Given the description of an element on the screen output the (x, y) to click on. 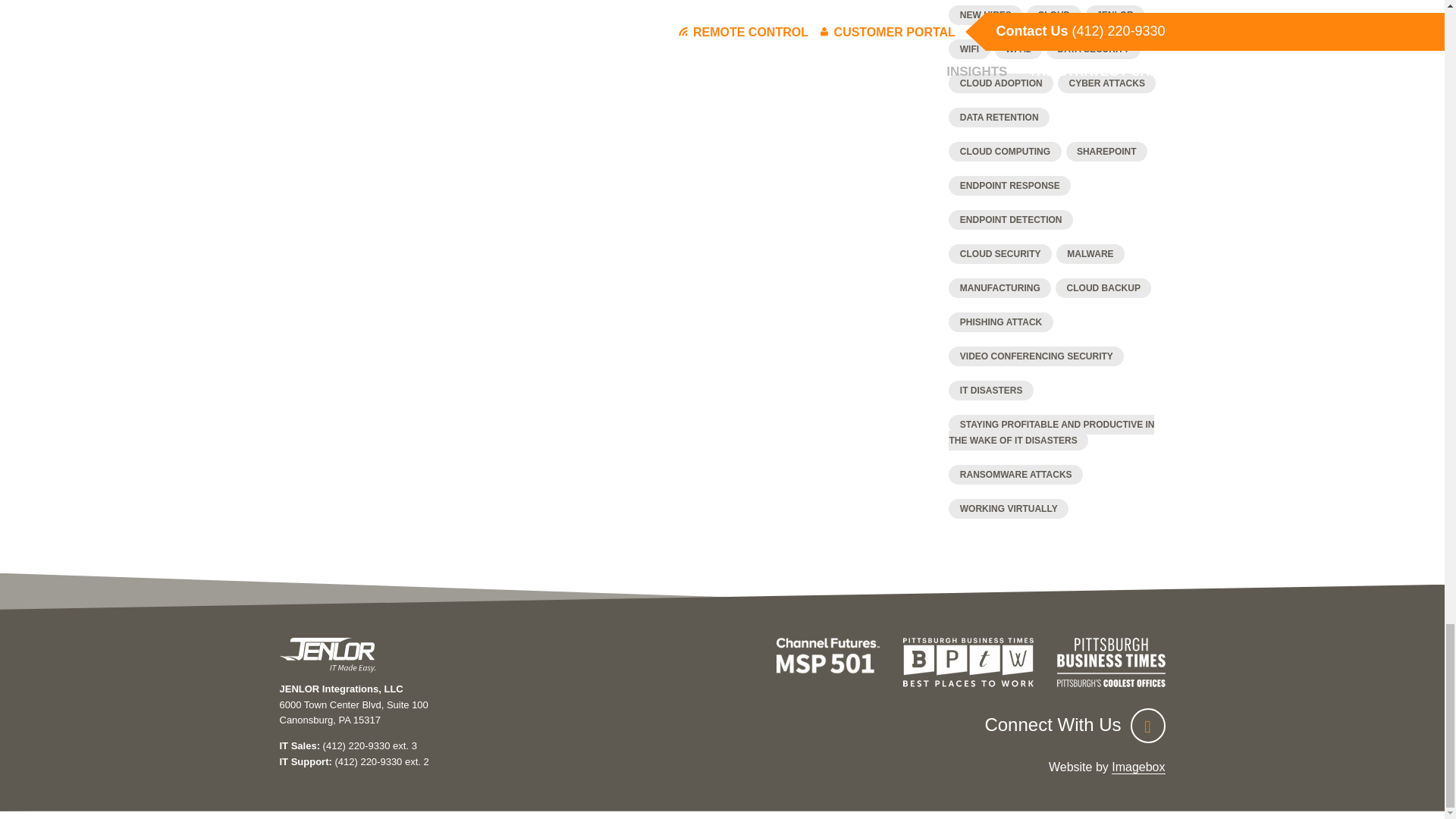
LinkedIn (1146, 725)
